Given the description of an element on the screen output the (x, y) to click on. 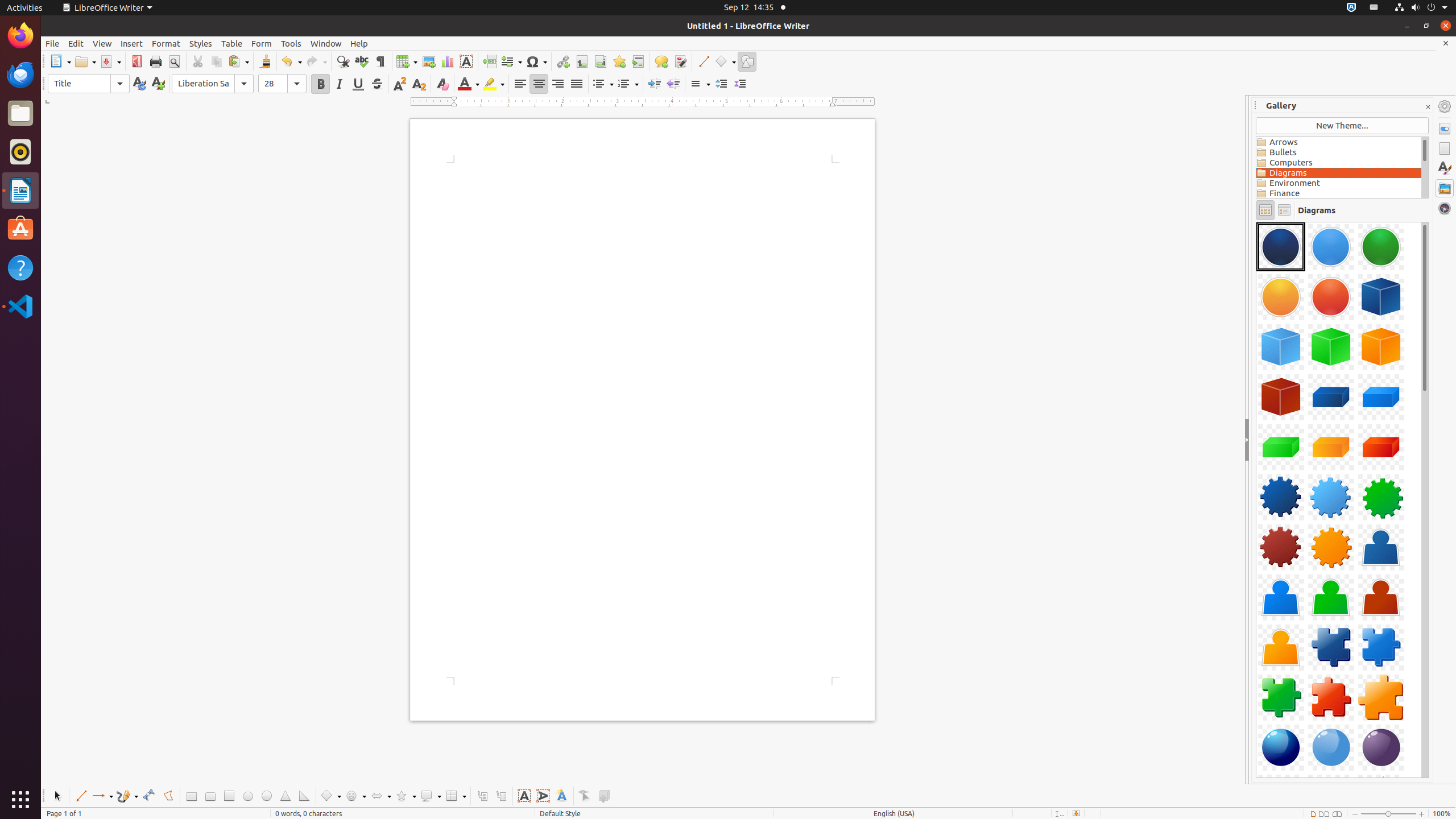
Styles Element type: radio-button (1444, 168)
Image Element type: push-button (428, 61)
Close Sidebar Deck Element type: push-button (1427, 106)
Italic Element type: toggle-button (338, 83)
Component-Cube05-DarkRed Element type: list-item (1280, 396)
